Given the description of an element on the screen output the (x, y) to click on. 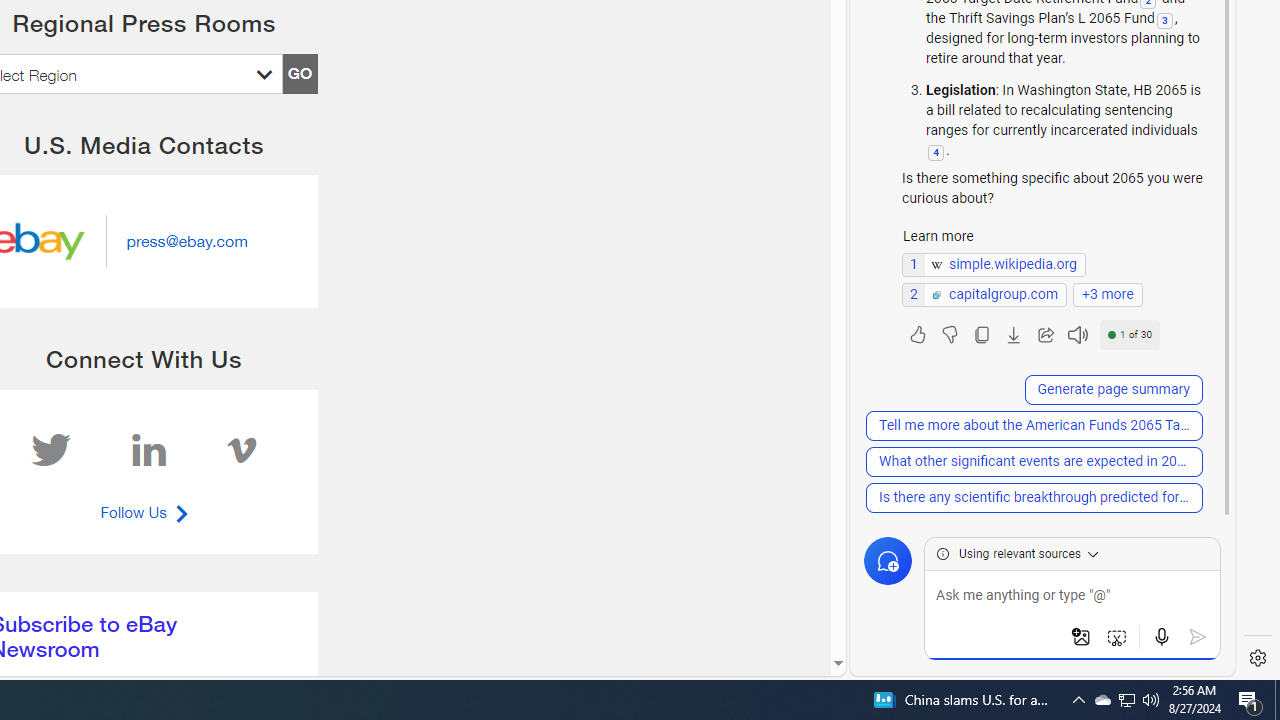
Send email to press@ebay.com (186, 240)
GO (299, 73)
